Given the description of an element on the screen output the (x, y) to click on. 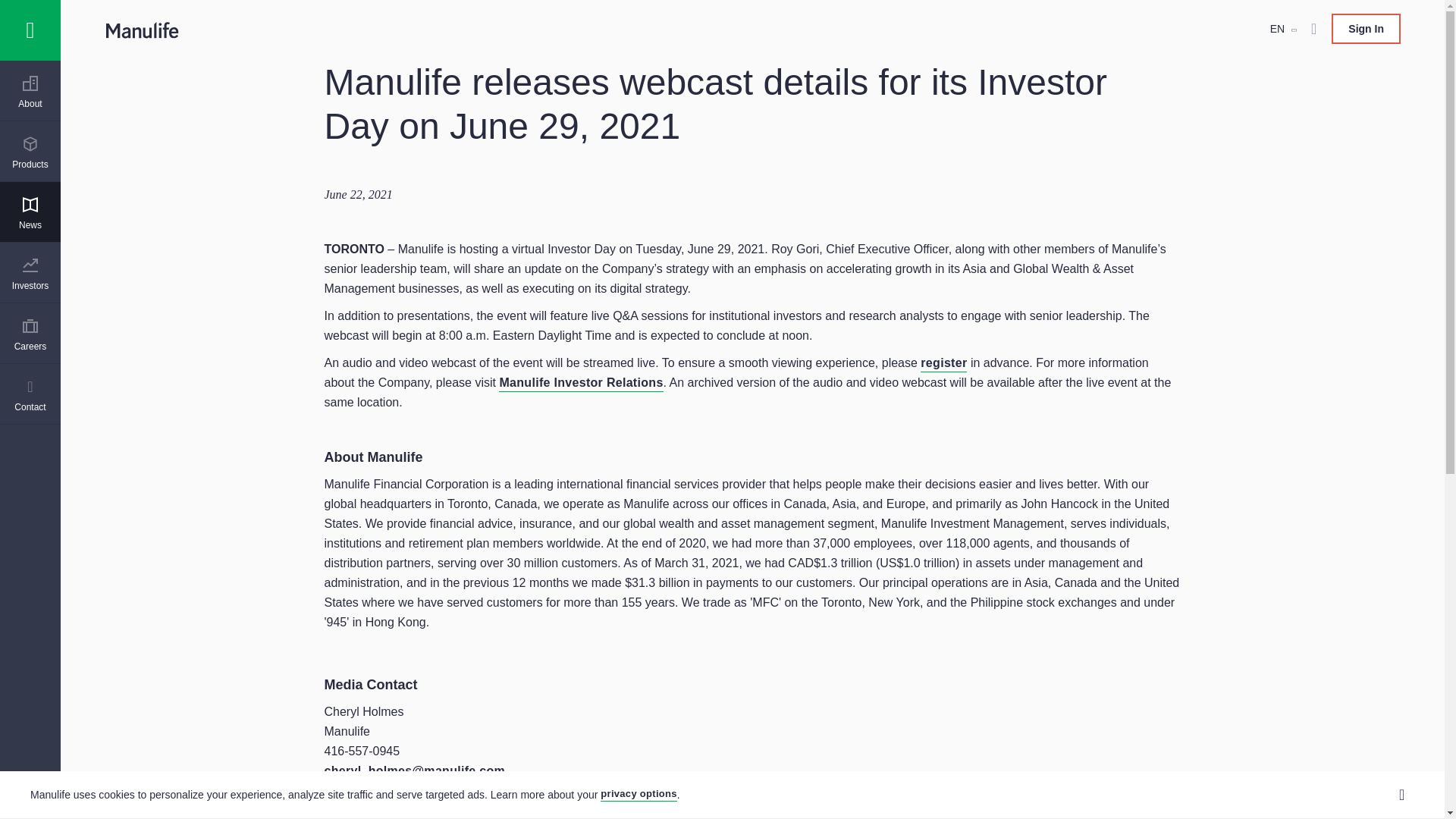
privacy statement (638, 794)
Investors (30, 274)
News (30, 213)
privacy options (638, 794)
Products (30, 153)
Products (30, 153)
About (30, 92)
Manulife Logo (30, 30)
About (30, 92)
